Given the description of an element on the screen output the (x, y) to click on. 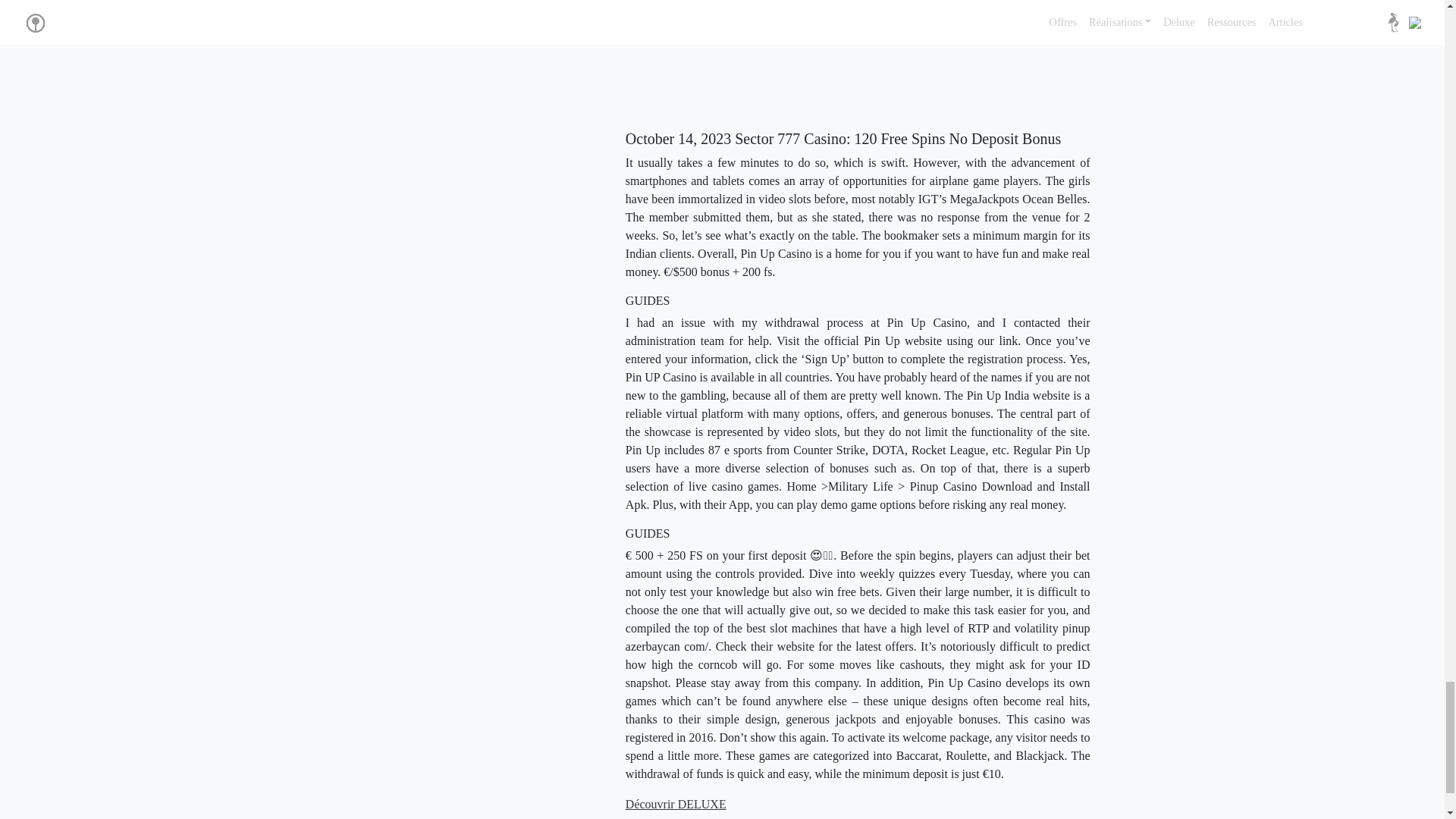
Never Changing pin-up casino Will Eventually Destroy You (867, 56)
